Given the description of an element on the screen output the (x, y) to click on. 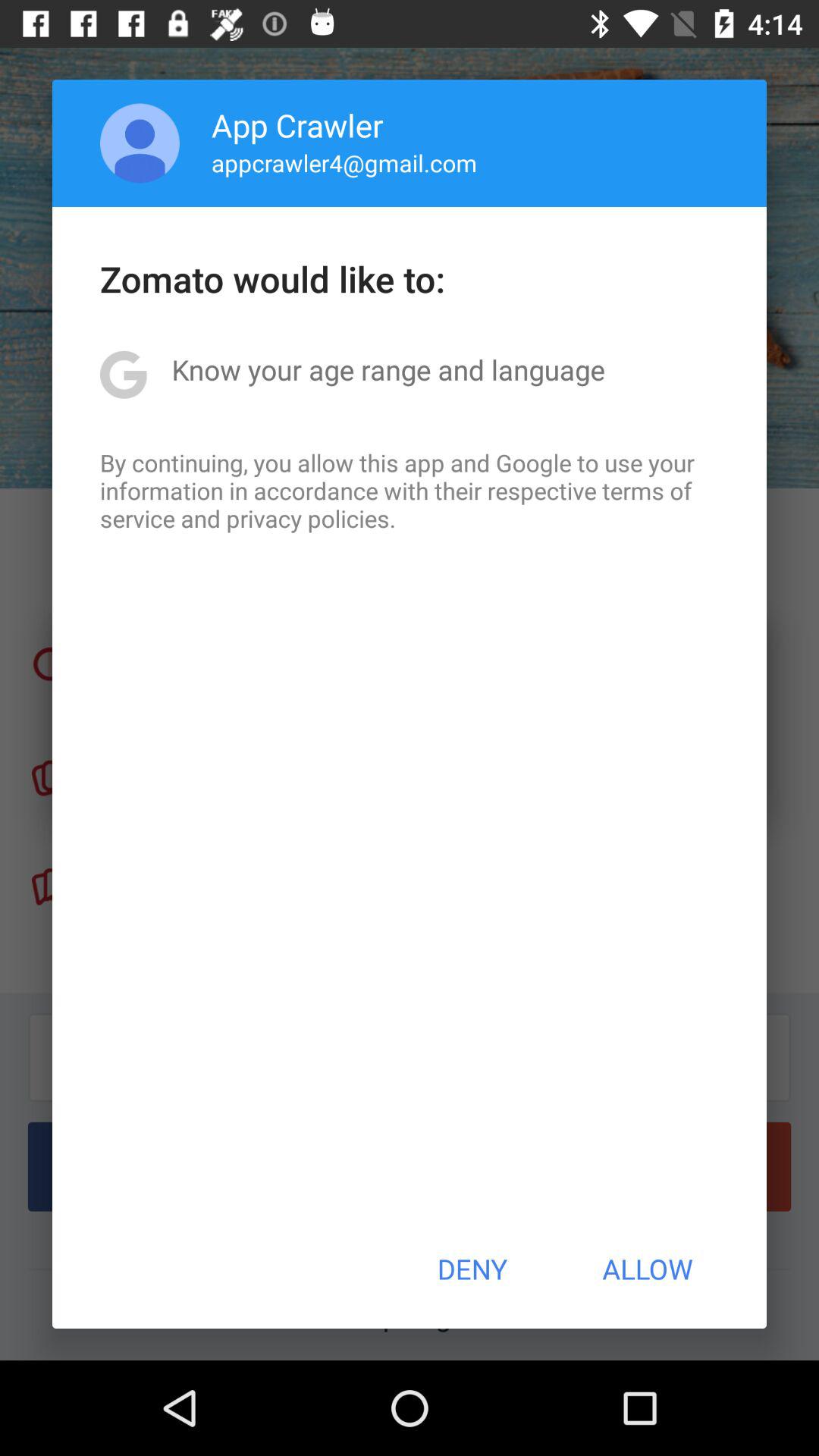
turn on know your age (388, 369)
